Given the description of an element on the screen output the (x, y) to click on. 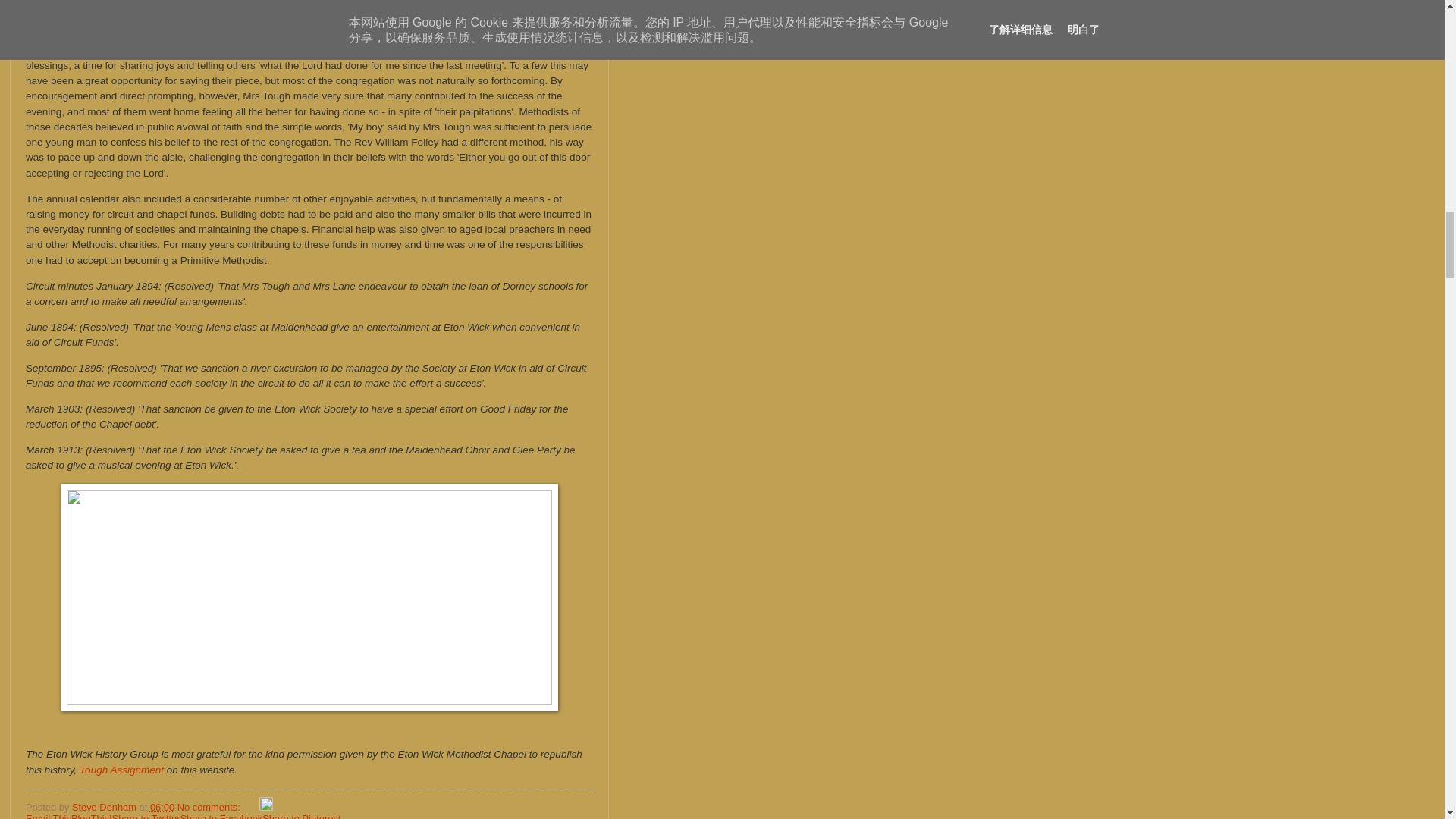
BlogThis! (91, 816)
06:00 (161, 807)
BlogThis! (91, 816)
Steve Denham (105, 807)
Tough Assignment (121, 769)
No comments: (210, 807)
Edit Post (266, 807)
author profile (105, 807)
permanent link (161, 807)
Email This (48, 816)
Email Post (251, 807)
Email This (48, 816)
